Given the description of an element on the screen output the (x, y) to click on. 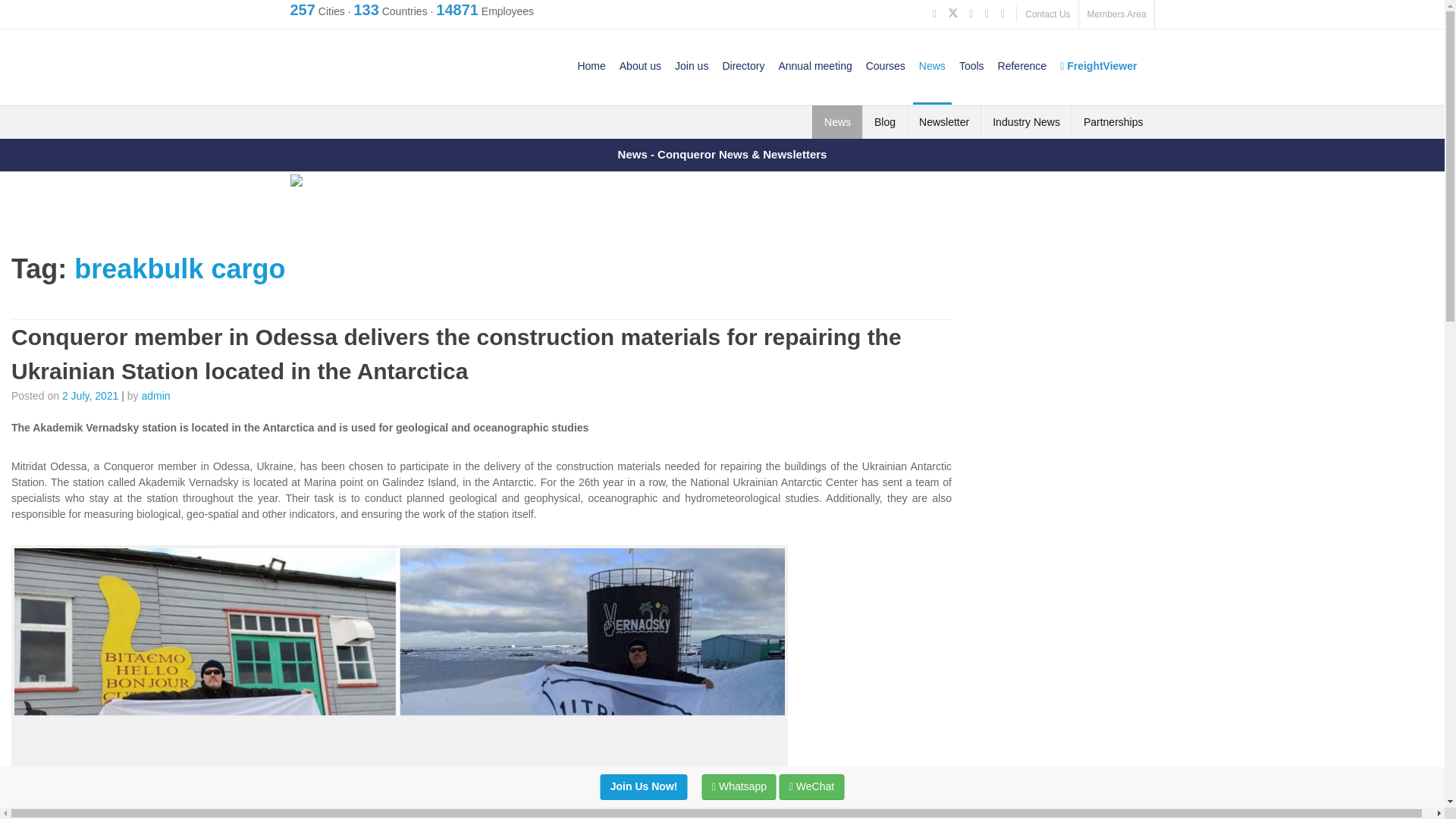
Members Area (1115, 14)
Contact Us (1047, 14)
Annual meeting (814, 65)
admin (155, 395)
Partnerships (1113, 121)
FreightViewer (1098, 65)
2 July, 2021 (89, 395)
Blog (884, 121)
